Given the description of an element on the screen output the (x, y) to click on. 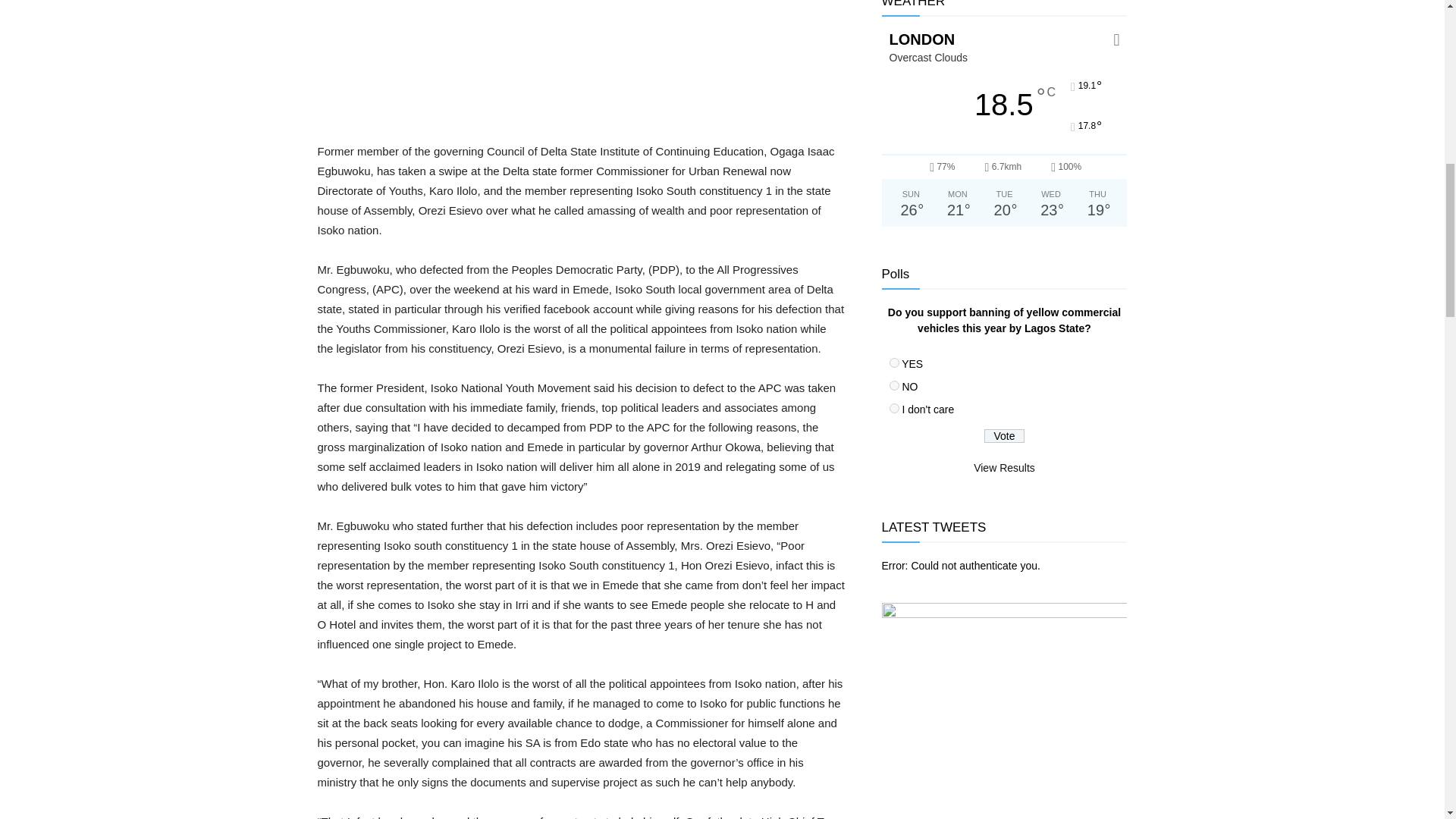
   Vote    (1004, 436)
8 (893, 408)
7 (893, 385)
6 (893, 362)
